Given the description of an element on the screen output the (x, y) to click on. 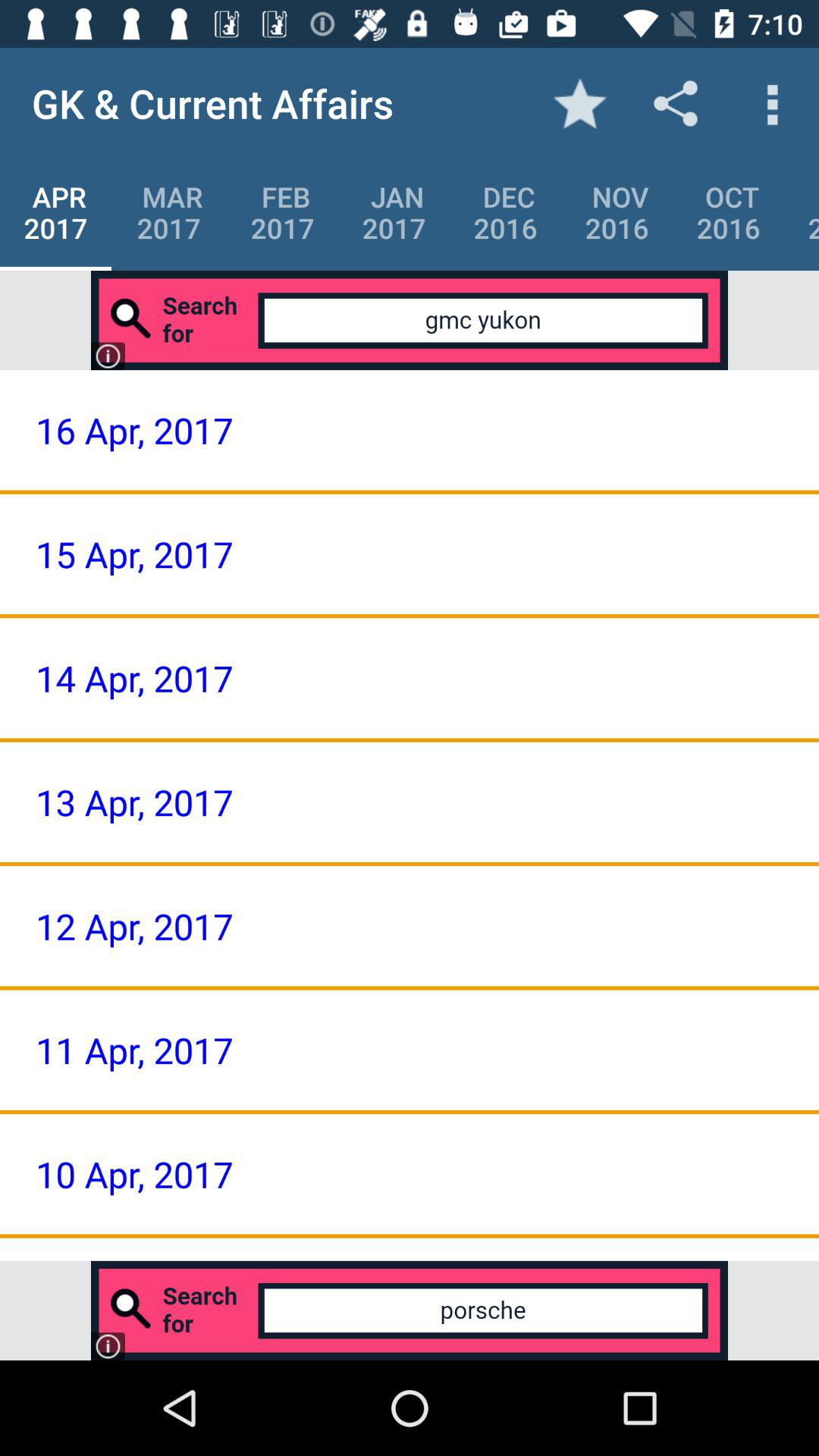
access advertisement (409, 1310)
